Given the description of an element on the screen output the (x, y) to click on. 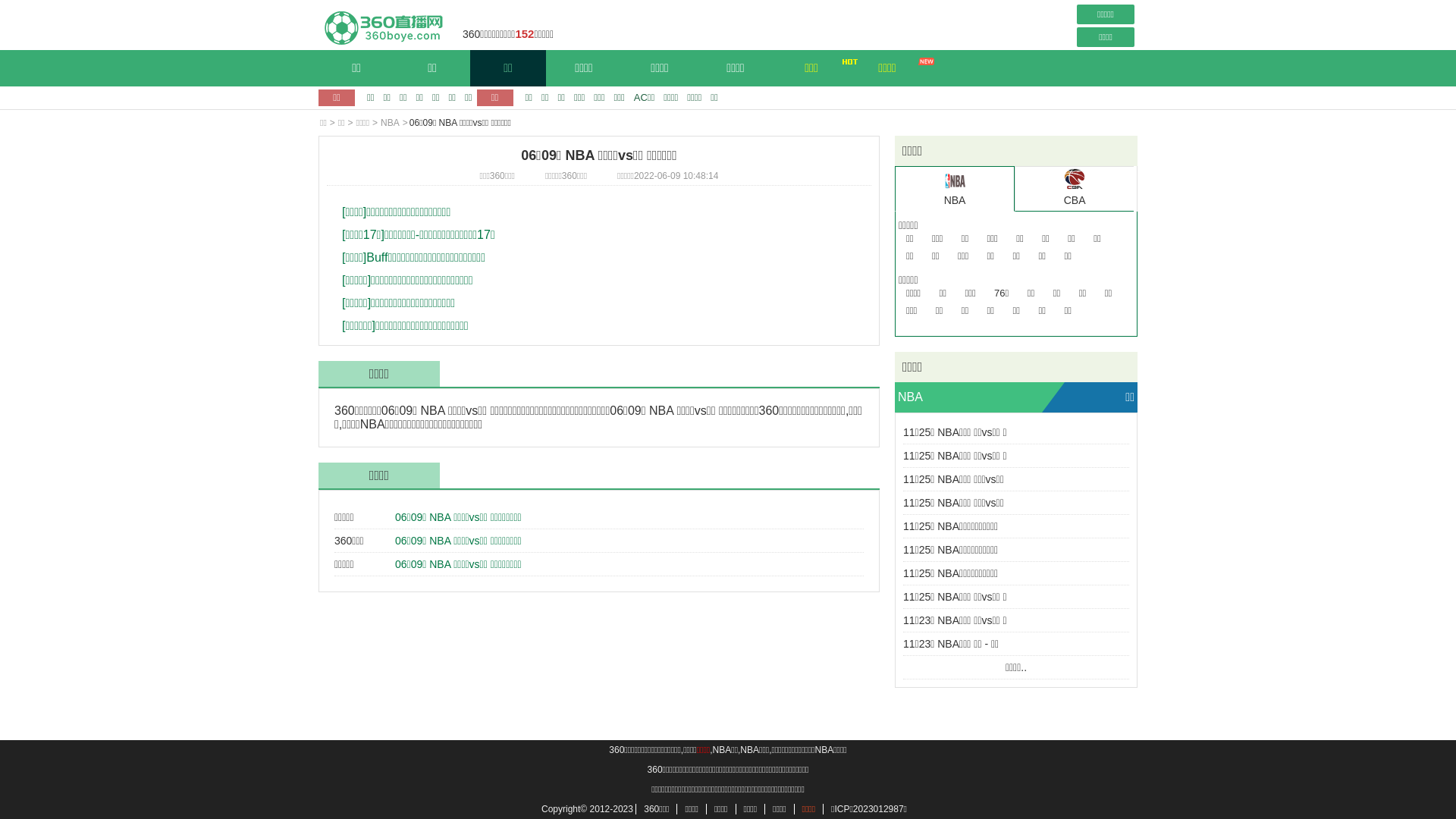
NBA Element type: text (389, 122)
NBA Element type: text (909, 397)
